Given the description of an element on the screen output the (x, y) to click on. 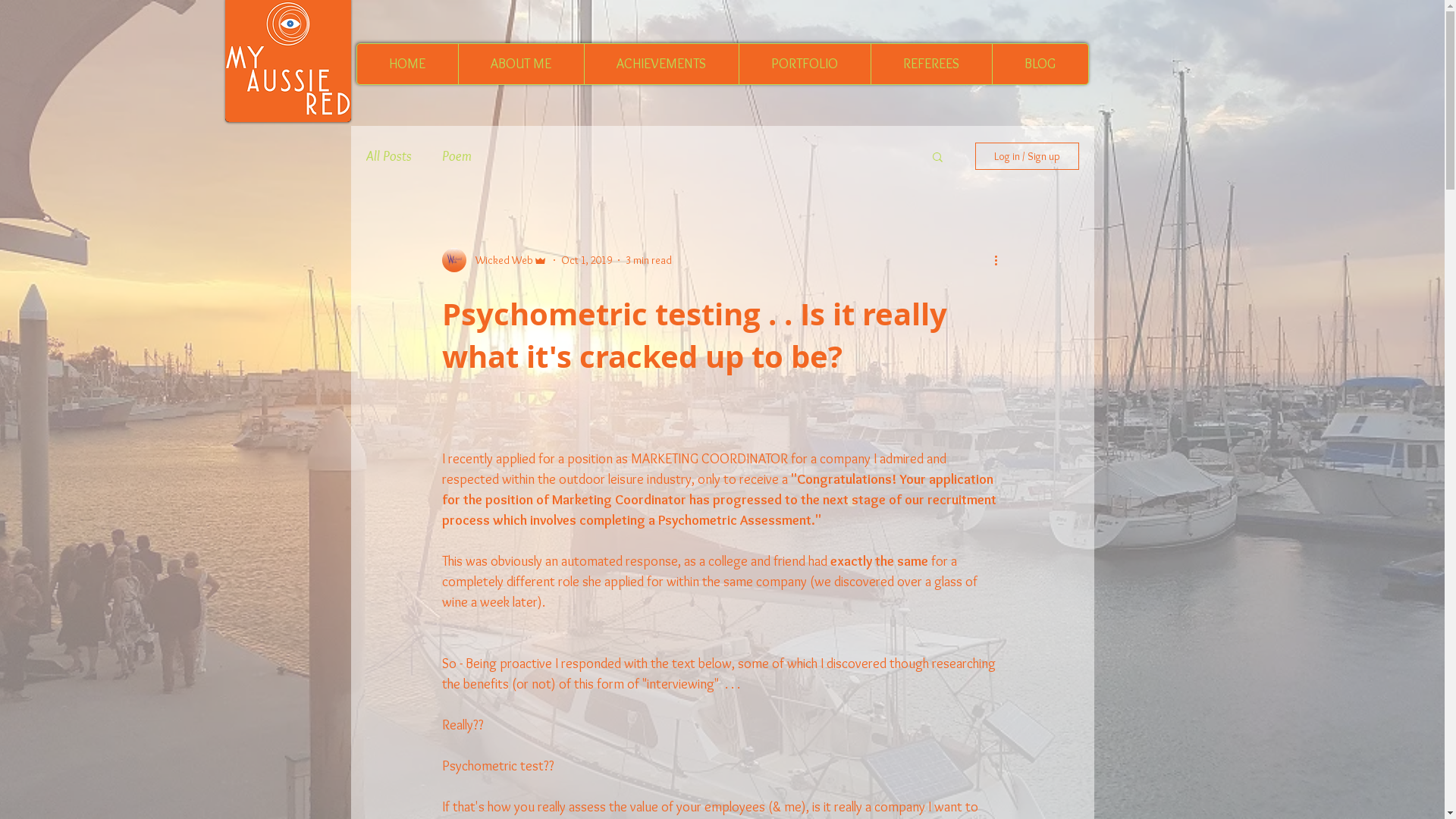
ABOUT ME Element type: text (520, 63)
Log in / Sign up Element type: text (1027, 155)
Poem Element type: text (455, 155)
All Posts Element type: text (388, 155)
ACHIEVEMENTS Element type: text (660, 63)
HOME Element type: text (406, 63)
BLOG Element type: text (1039, 63)
REFEREES Element type: text (930, 63)
PORTFOLIO Element type: text (804, 63)
